Given the description of an element on the screen output the (x, y) to click on. 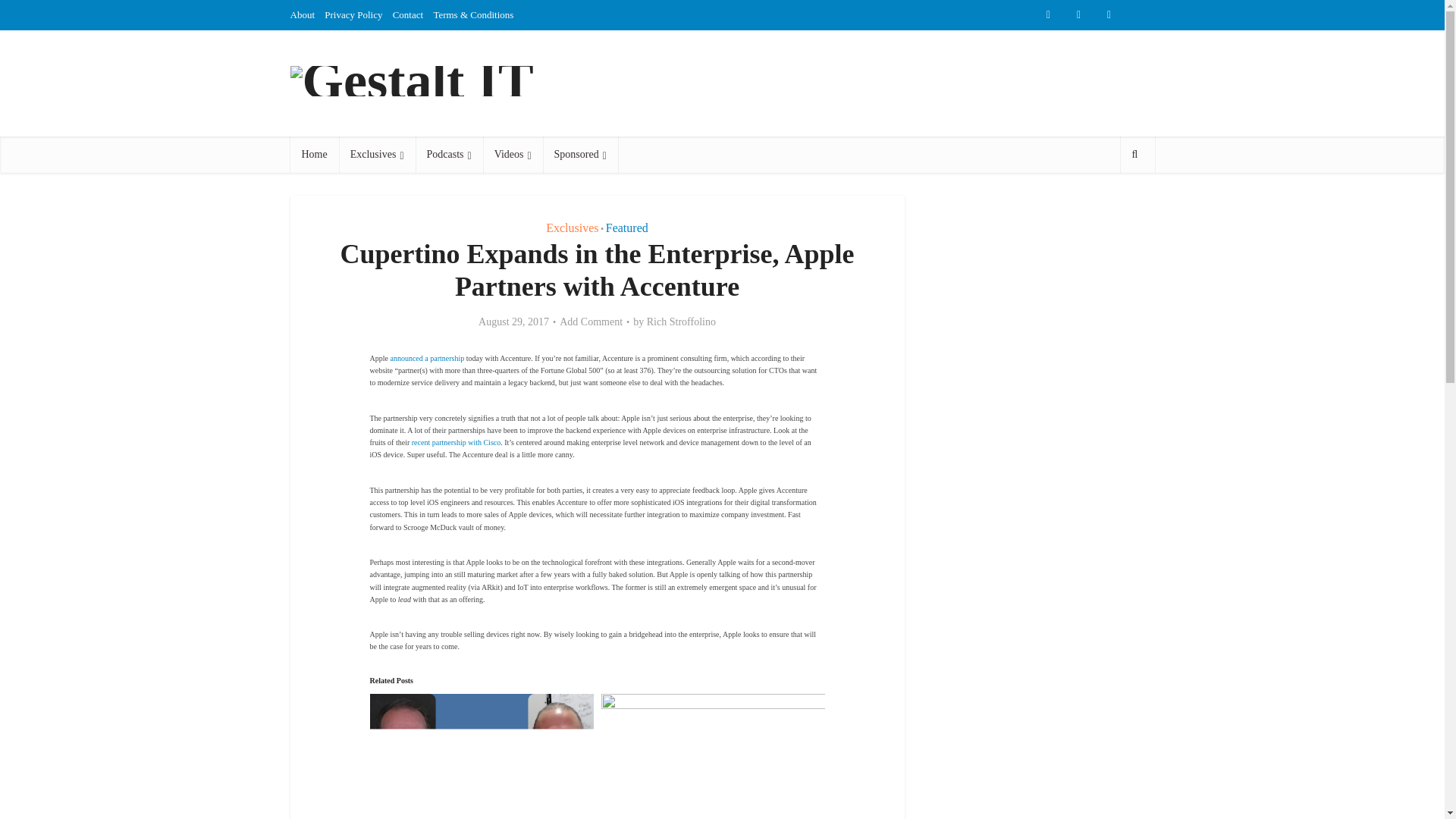
Contact (408, 14)
Sponsored (580, 154)
Videos (513, 154)
About (301, 14)
Exclusives (376, 154)
Podcasts (448, 154)
Privacy Policy (352, 14)
Home (313, 154)
